Given the description of an element on the screen output the (x, y) to click on. 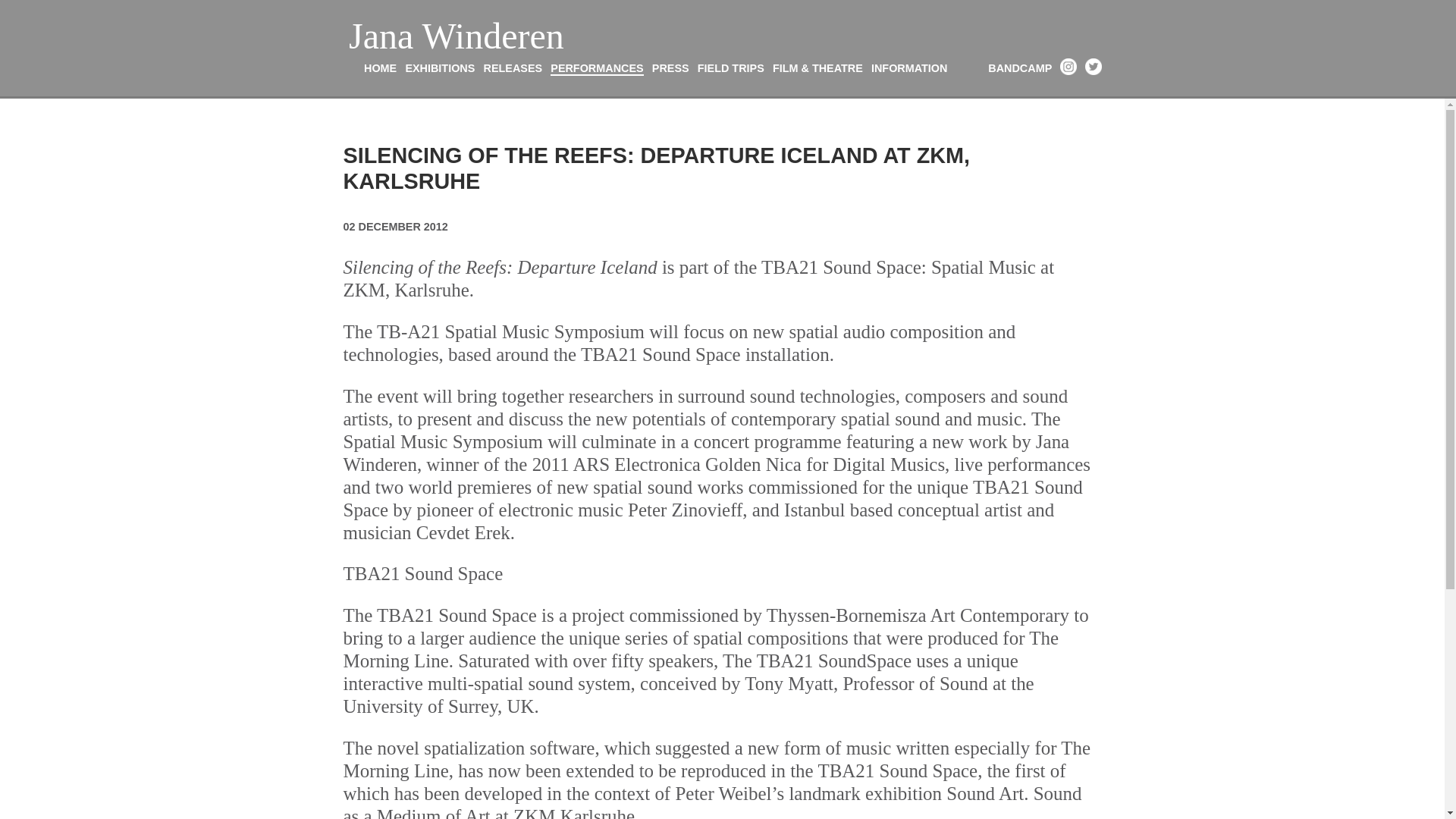
Jana Winderen (456, 35)
RELEASES (513, 68)
FIELD TRIPS (730, 68)
BANDCAMP (1019, 68)
HOME (380, 68)
INFORMATION (908, 68)
PRESS (670, 68)
EXHIBITIONS (439, 68)
PERFORMANCES (596, 69)
